Given the description of an element on the screen output the (x, y) to click on. 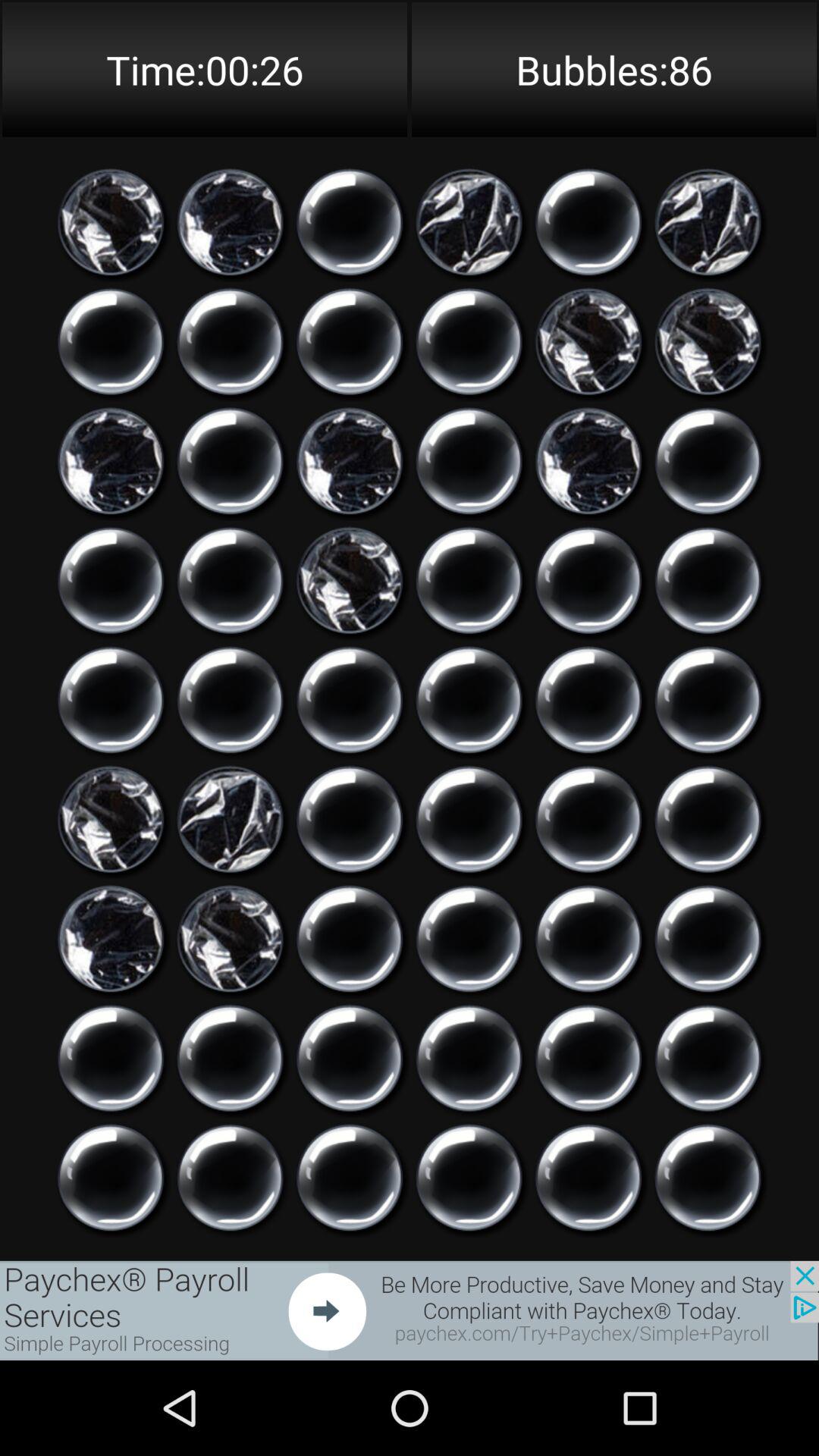
click to burst the bubble (707, 938)
